Given the description of an element on the screen output the (x, y) to click on. 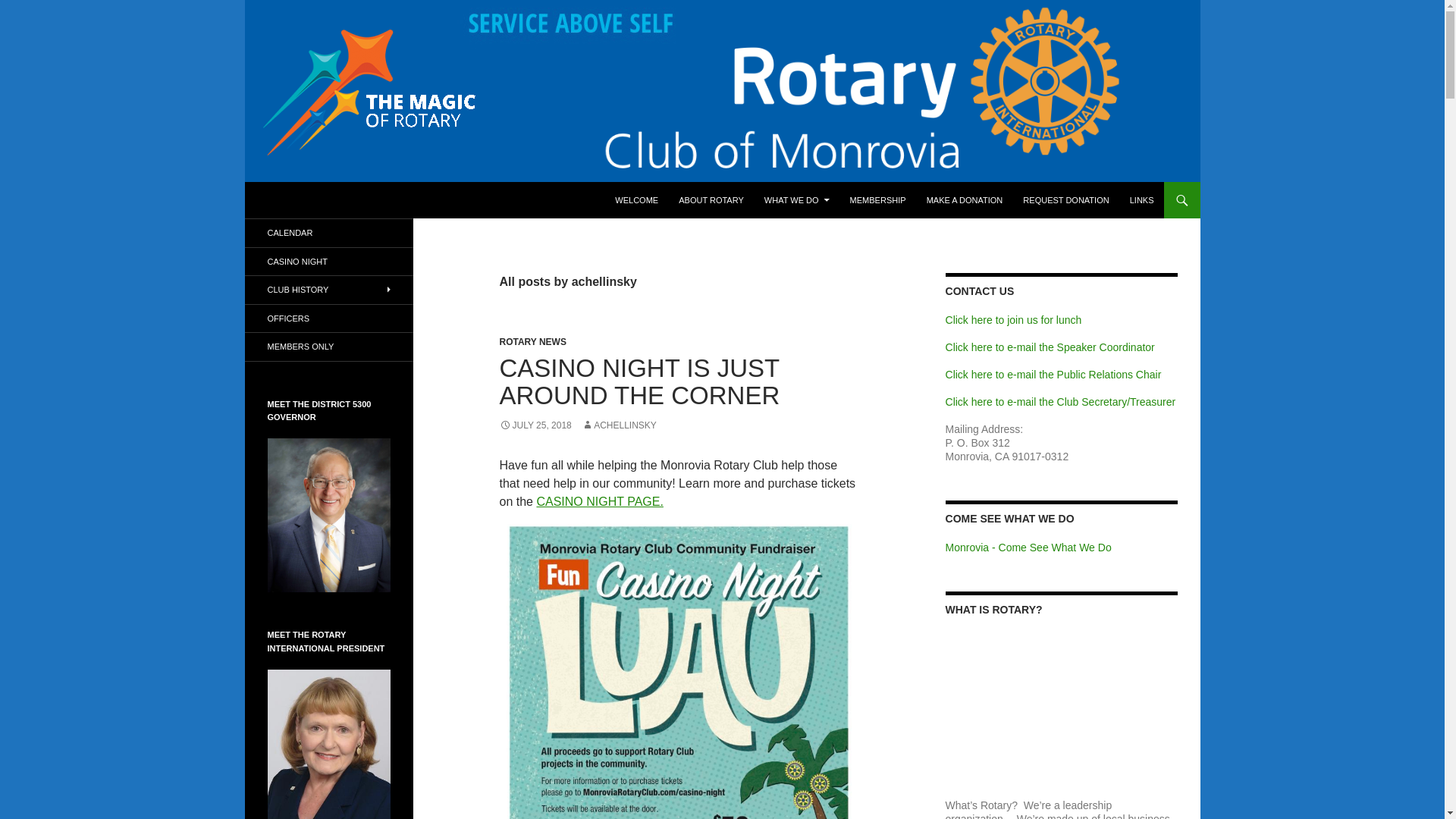
ROTARY NEWS (532, 341)
CASINO NIGHT IS JUST AROUND THE CORNER (638, 381)
ABOUT ROTARY (710, 199)
ACHELLINSKY (618, 425)
JULY 25, 2018 (534, 425)
Rotary Club of Monrovia (345, 199)
MAKE A DONATION (964, 199)
REQUEST DONATION (1065, 199)
CASINO NIGHT PAGE. (598, 501)
WHAT WE DO (796, 199)
Rotary Video (1060, 697)
LINKS (1142, 199)
WELCOME (635, 199)
